Given the description of an element on the screen output the (x, y) to click on. 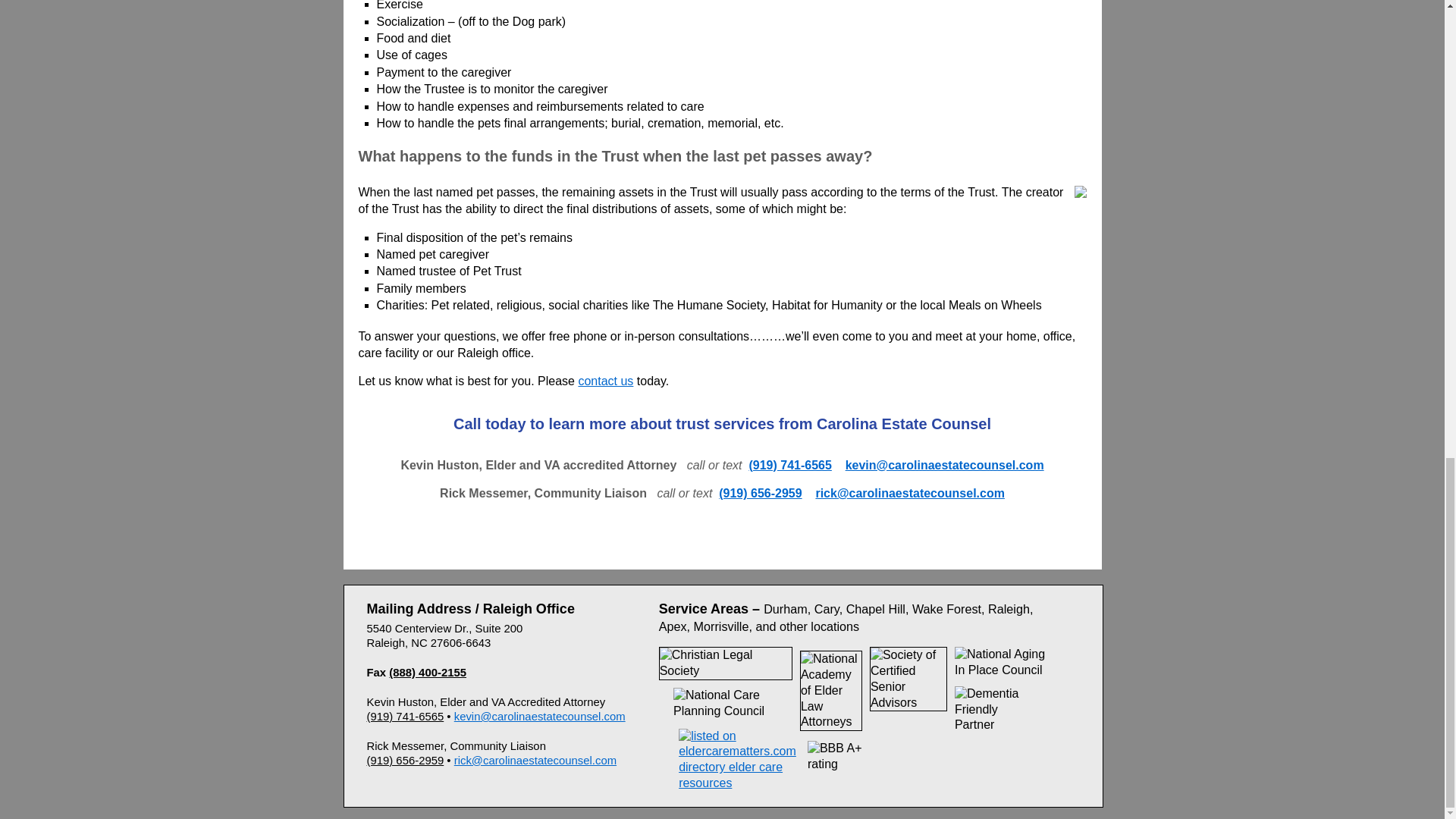
contact us (605, 380)
